Given the description of an element on the screen output the (x, y) to click on. 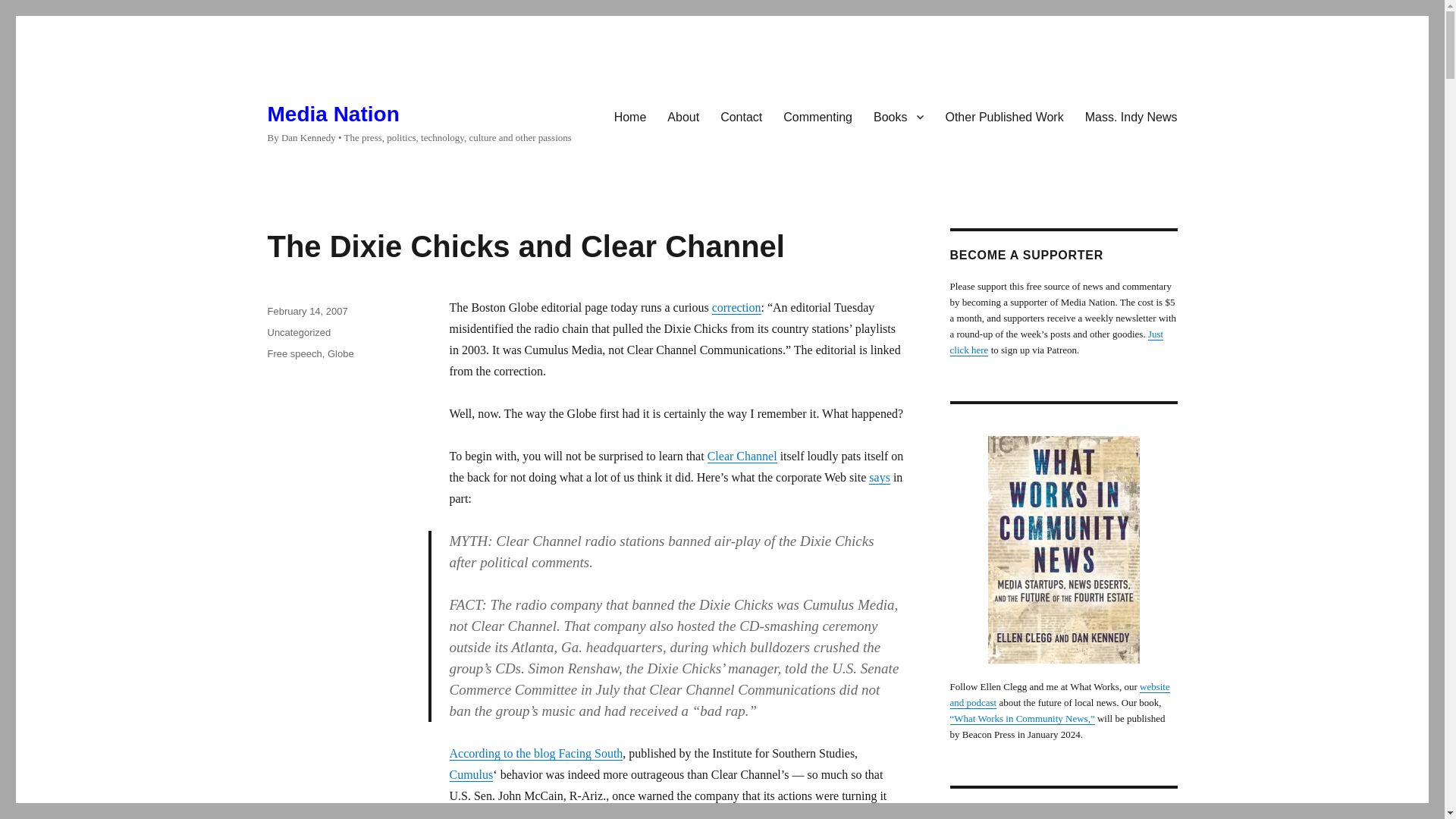
Other Published Work (1004, 116)
Contact (741, 116)
correction (736, 307)
Home (631, 116)
Books (898, 116)
Commenting (818, 116)
says (879, 477)
Cumulus (470, 774)
Mass. Indy News (1131, 116)
Media Nation (332, 114)
About (683, 116)
February 14, 2007 (306, 310)
Clear Channel (742, 455)
According to the blog Facing South (535, 753)
